Given the description of an element on the screen output the (x, y) to click on. 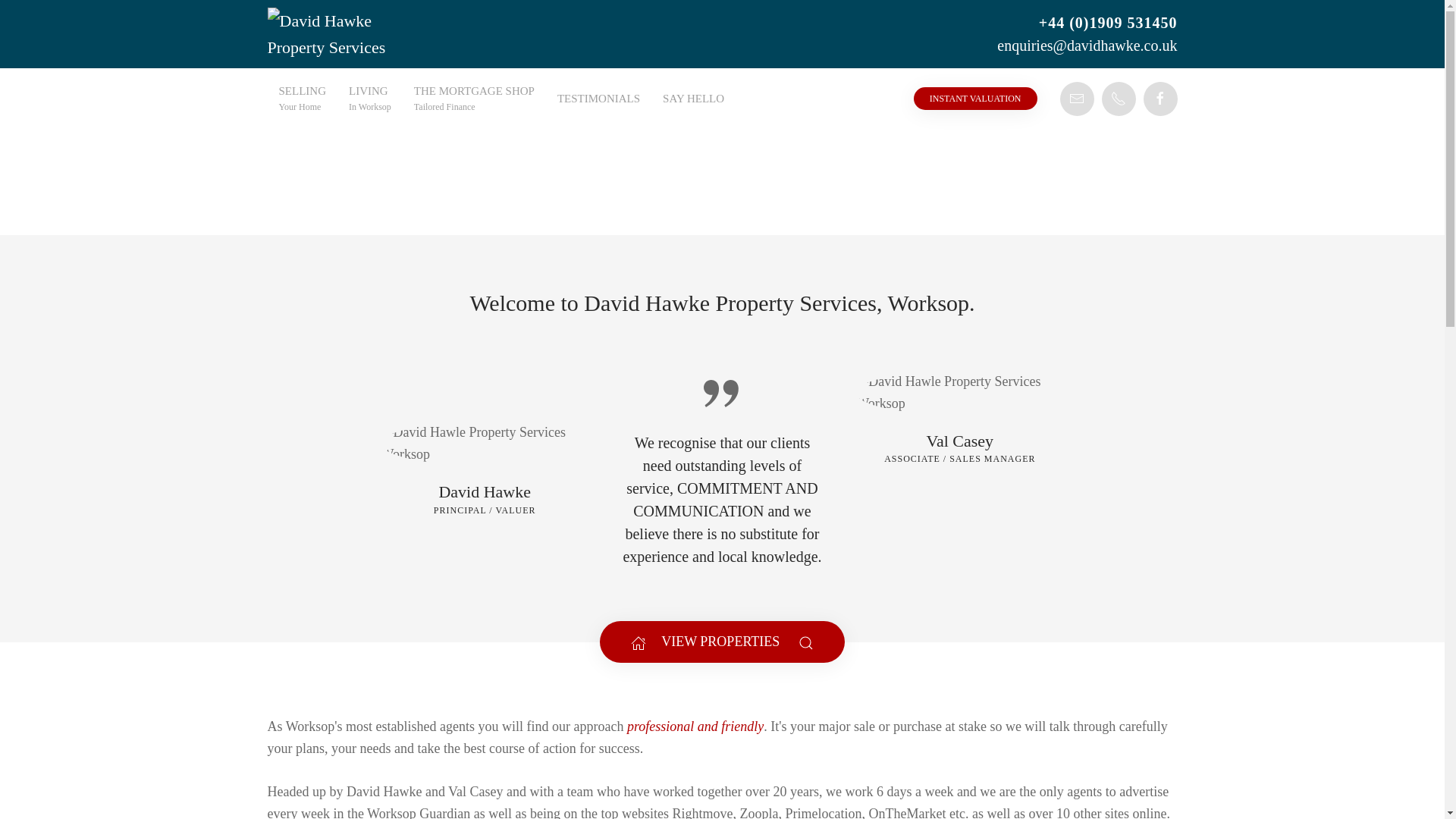
VIEW PROPERTIES (721, 641)
David Hawke (484, 492)
TESTIMONIALS (598, 97)
Val Casey (959, 441)
SAY HELLO (301, 97)
Welcome to David Hawke Property Services, Worksop. (474, 97)
INSTANT VALUATION (370, 97)
